Given the description of an element on the screen output the (x, y) to click on. 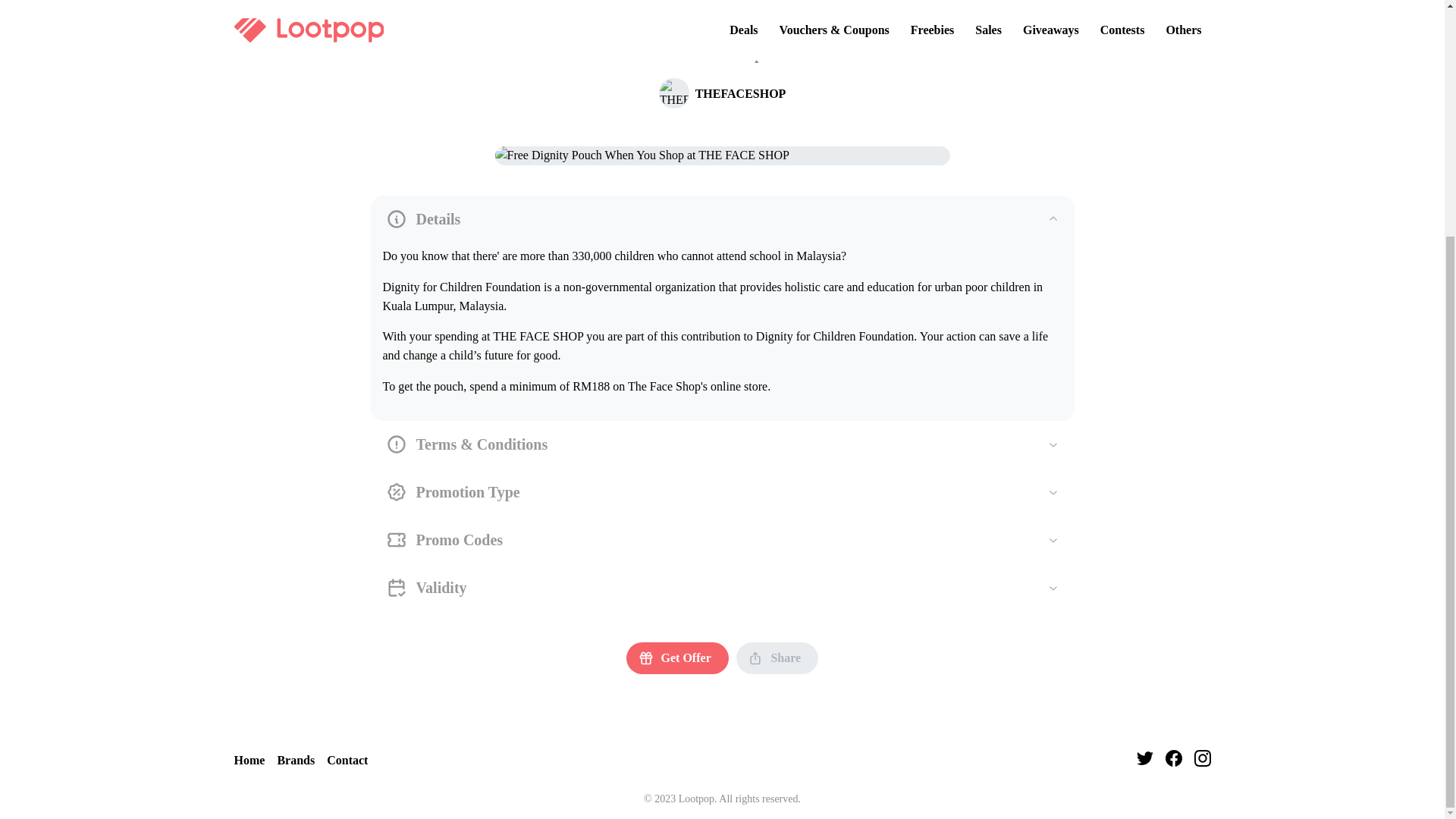
Promo Codes (721, 540)
Details (721, 219)
Promotion Type (721, 492)
Contact (347, 760)
Brands (295, 760)
Share (777, 658)
Validity (721, 587)
Get Offer (677, 658)
Home (248, 760)
THEFACESHOP (722, 92)
